Given the description of an element on the screen output the (x, y) to click on. 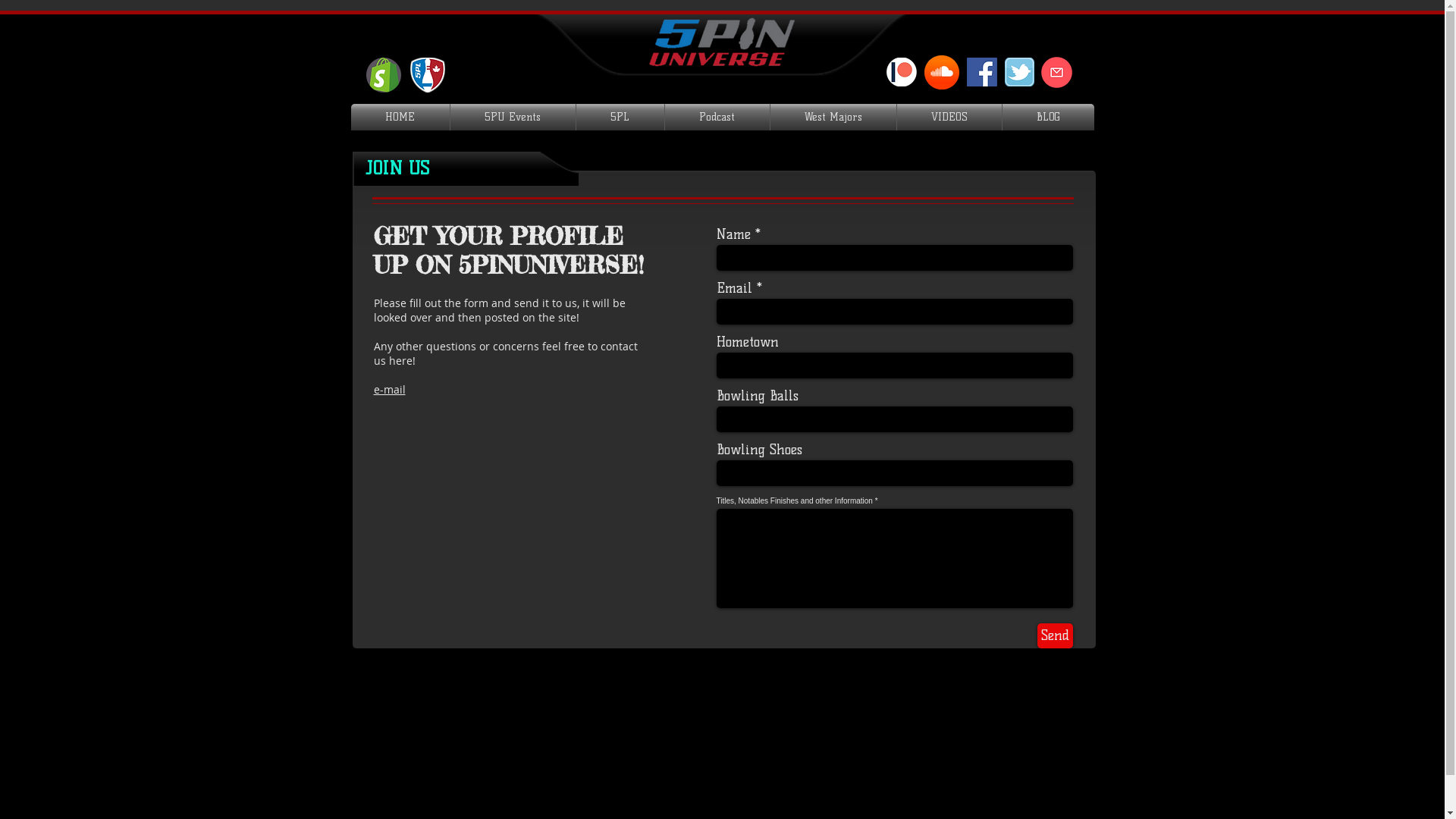
5PU Events Element type: text (512, 116)
HOME Element type: text (399, 116)
Podcast Element type: text (716, 116)
VIDEOS Element type: text (948, 116)
e-mail Element type: text (388, 389)
5PL Element type: text (620, 116)
BLOG Element type: text (1048, 116)
Send Element type: text (1055, 635)
West Majors Element type: text (833, 116)
